Given the description of an element on the screen output the (x, y) to click on. 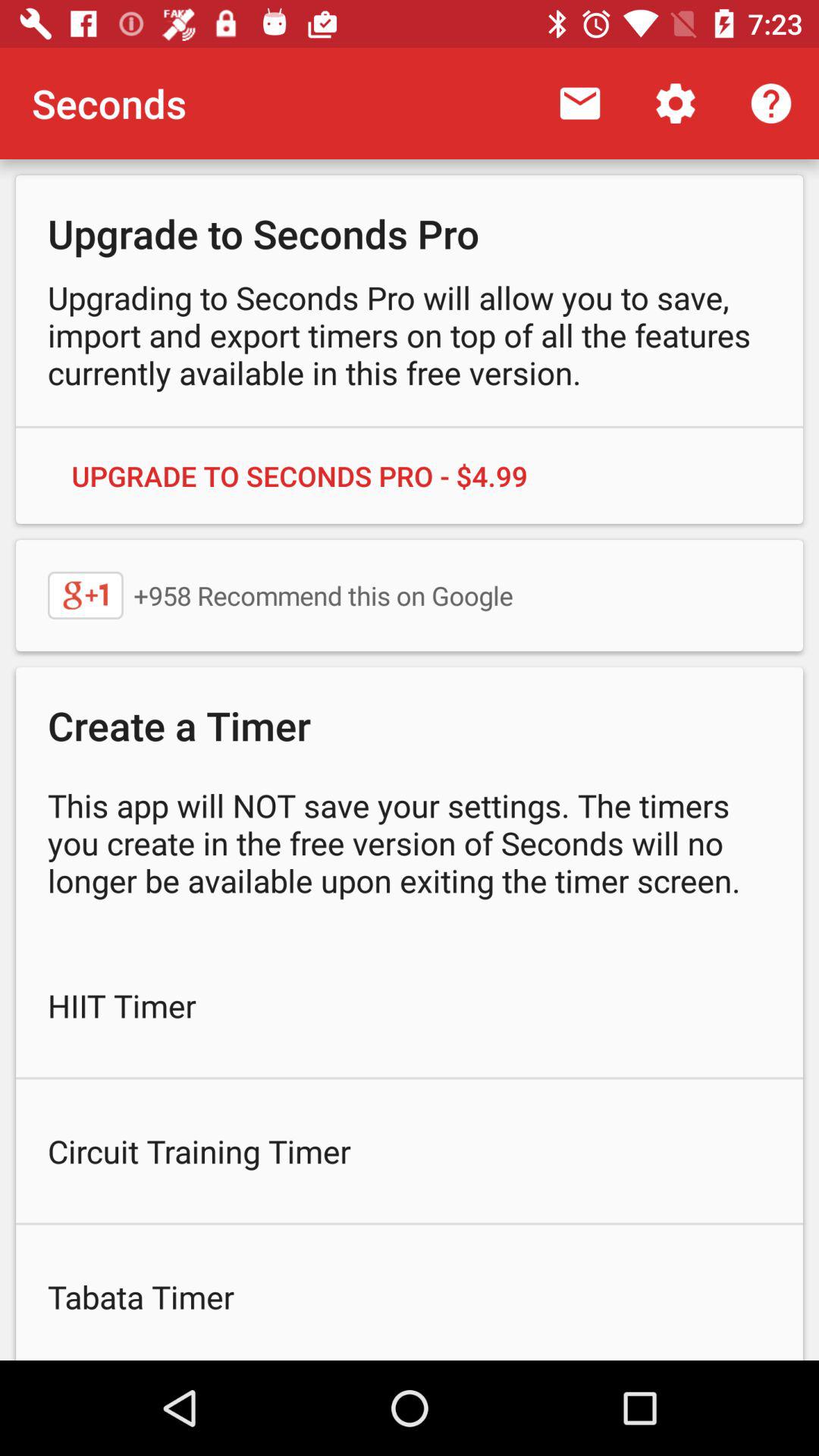
press icon below the this app will item (409, 1005)
